Given the description of an element on the screen output the (x, y) to click on. 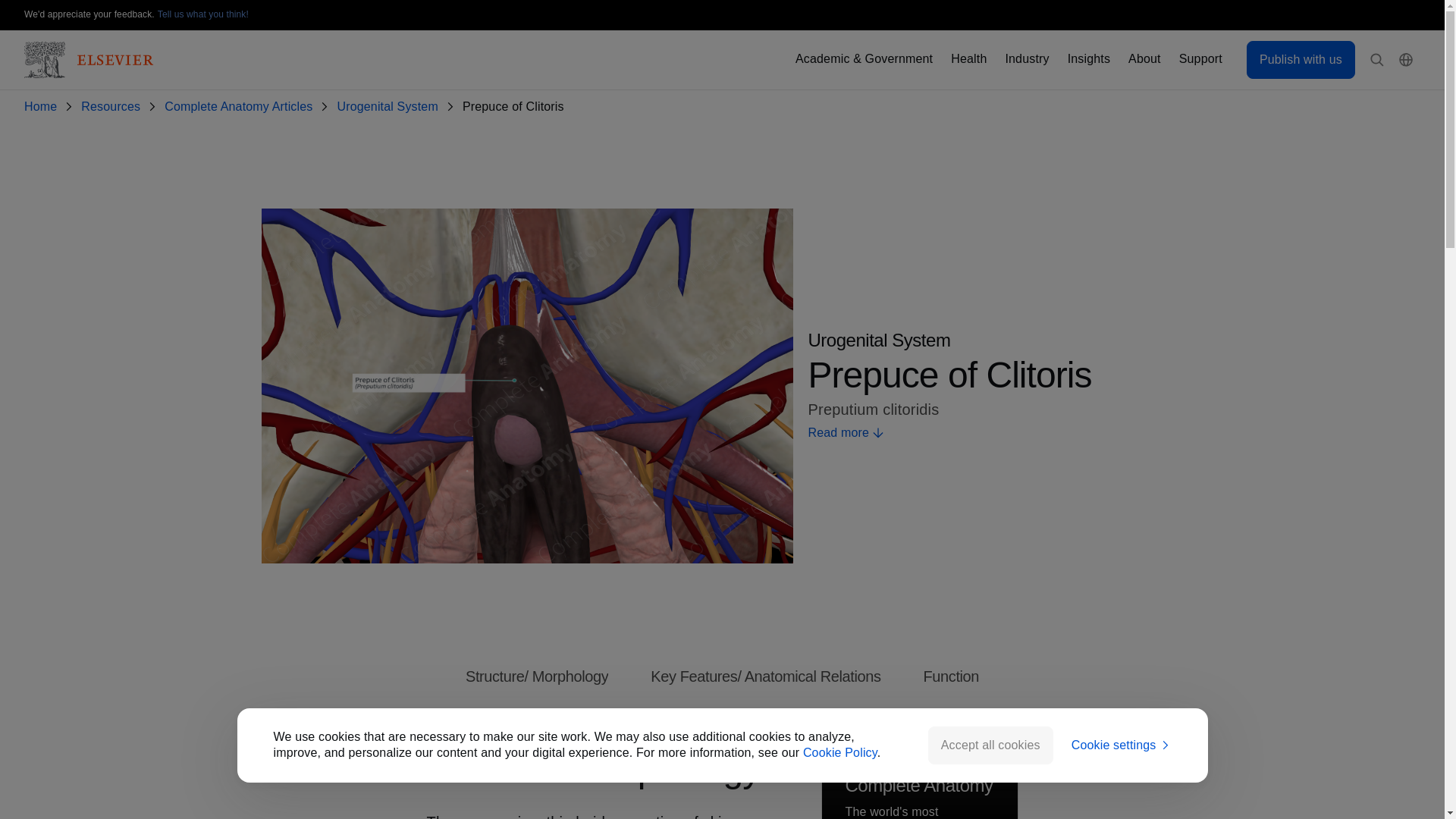
Function (951, 676)
Insights (1088, 59)
Support (1201, 59)
Open Search (1376, 59)
Complete Anatomy Articles (241, 107)
Home (43, 107)
Read more (995, 433)
Health (968, 59)
Industry (1026, 59)
Location Selector (1406, 59)
Publish with us (1300, 59)
Cookie Policy (840, 752)
Accept all cookies (990, 745)
Cookie settings (1121, 745)
Resources (114, 107)
